Given the description of an element on the screen output the (x, y) to click on. 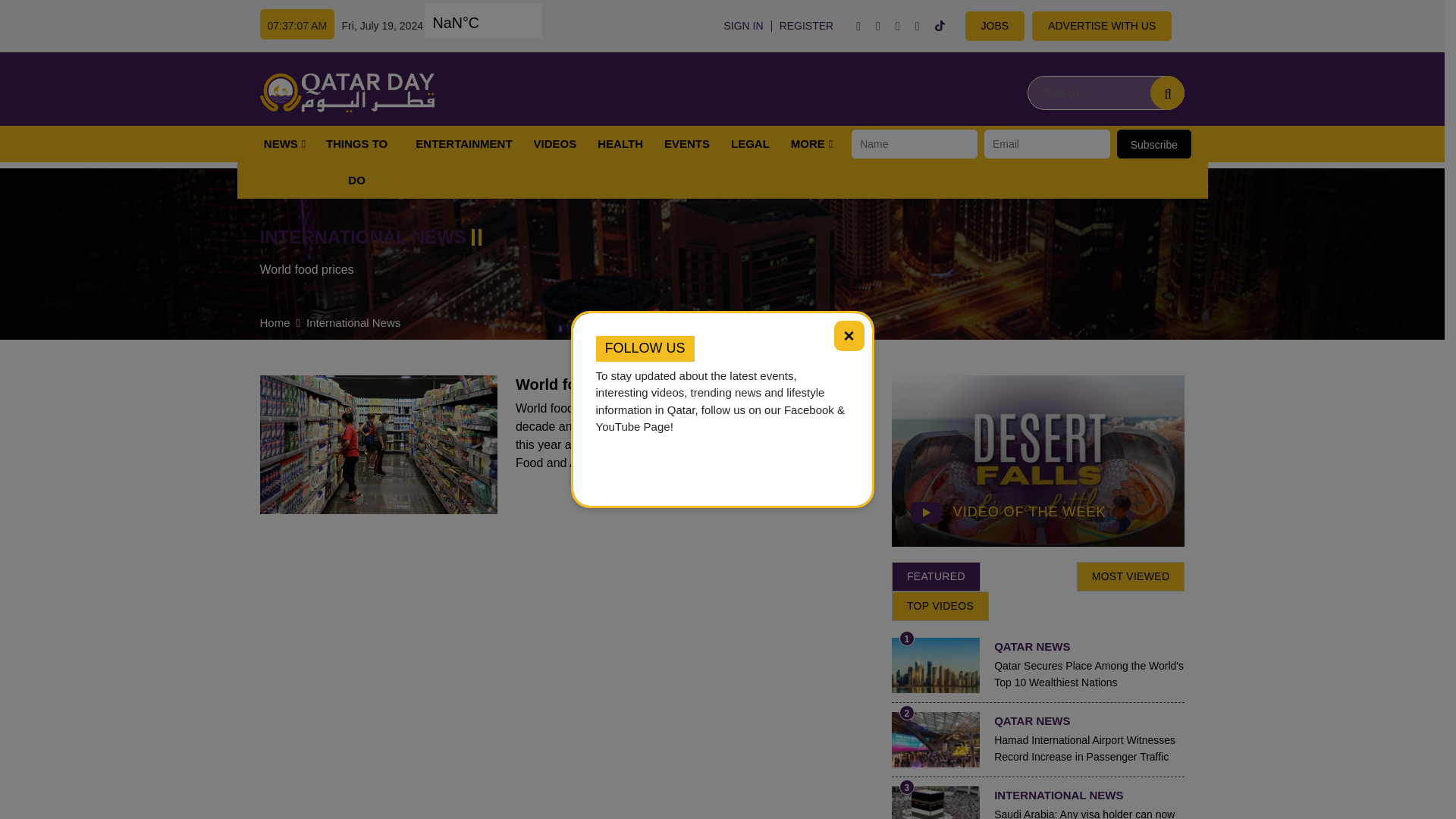
REGISTER (806, 25)
Home (346, 92)
NEWS (280, 144)
Tiktok (940, 25)
HEALTH (619, 144)
Register (806, 25)
VIDEOS (555, 144)
3rd party ad content (728, 92)
Doha, Qatar (508, 28)
Weather Widget (508, 28)
EVENTS (686, 144)
Advertise (995, 25)
ADVERTISE WITH US (1102, 25)
ENTERTAINMENT (463, 144)
SIGN IN (743, 25)
